Given the description of an element on the screen output the (x, y) to click on. 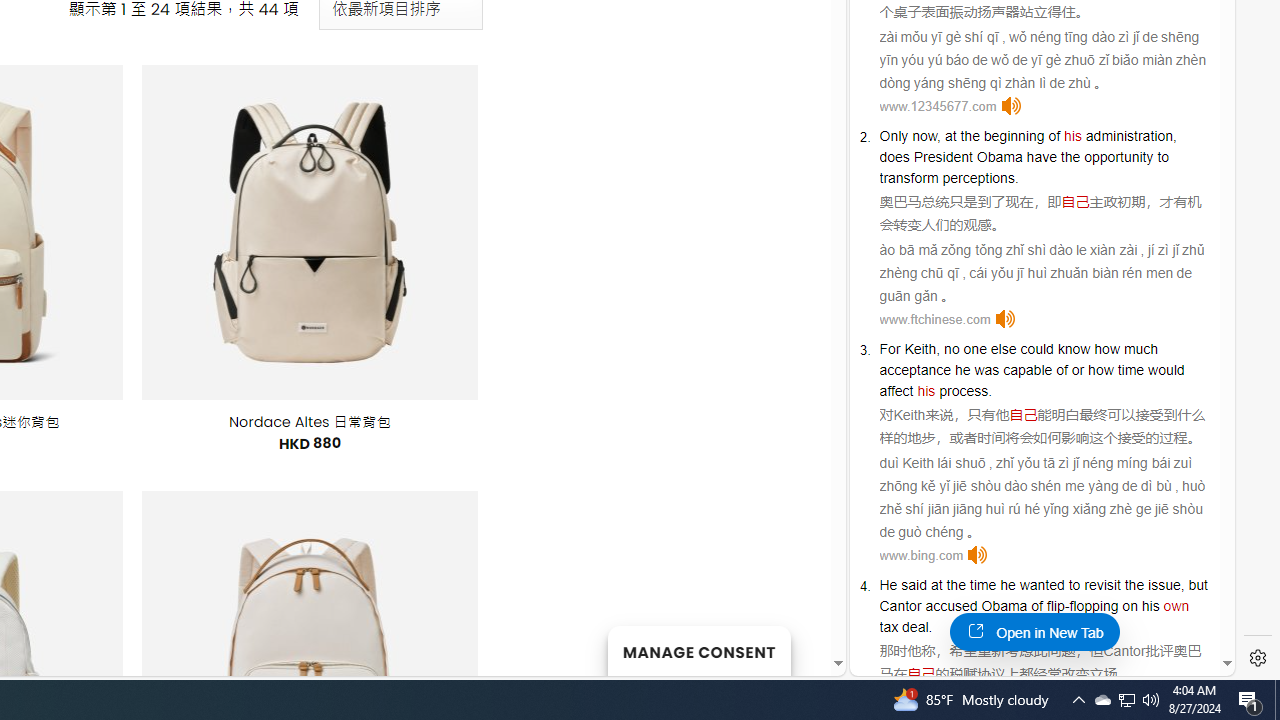
transform (909, 177)
know (1073, 349)
For (890, 349)
now (924, 136)
affect (896, 390)
of (1036, 606)
Only (893, 136)
